Given the description of an element on the screen output the (x, y) to click on. 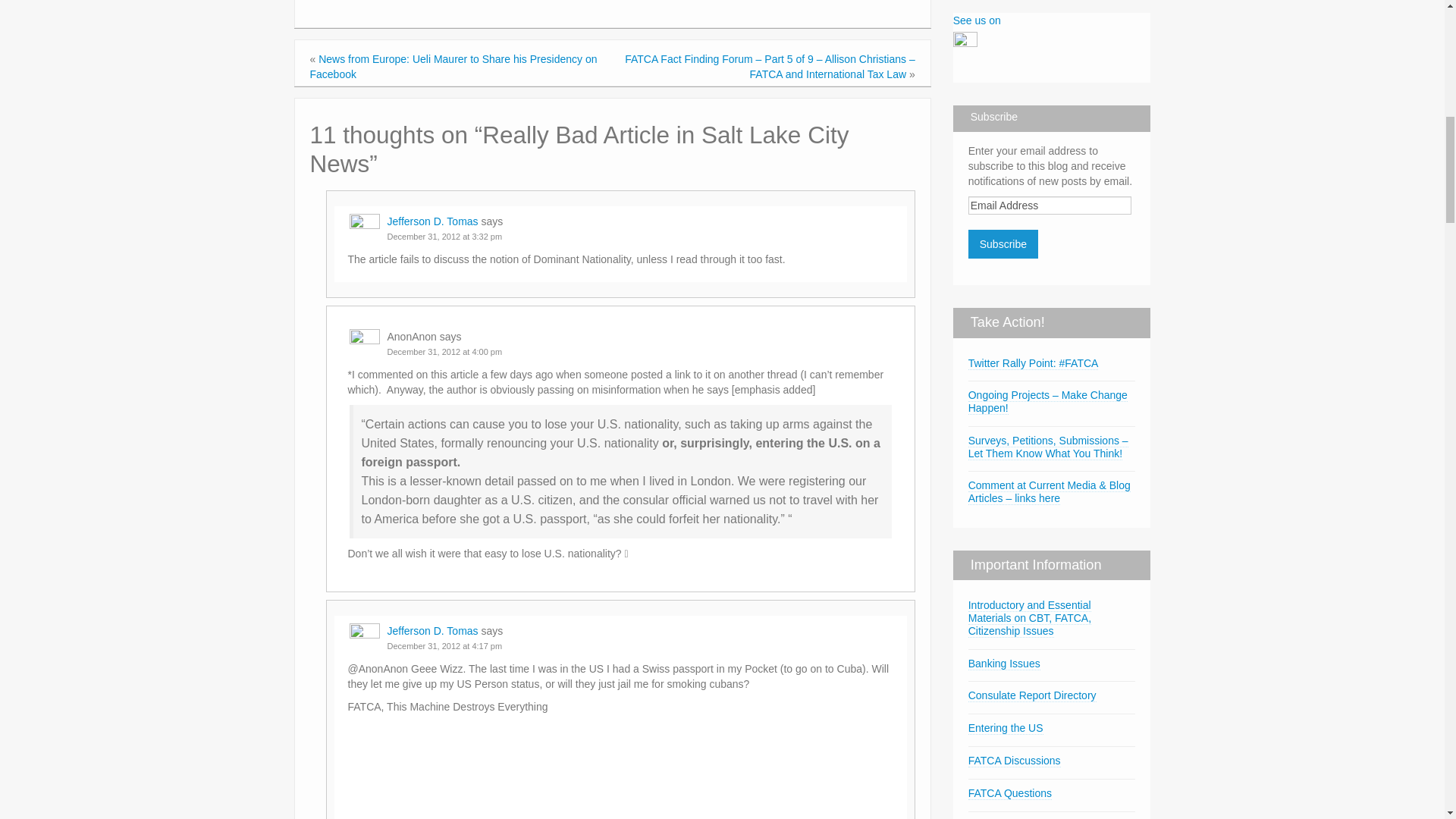
December 31, 2012 at 4:00 pm (444, 351)
Subscribe (1003, 244)
Jefferson D. Tomas (432, 221)
December 31, 2012 at 4:17 pm (444, 645)
December 31, 2012 at 3:32 pm (444, 235)
Jefferson D. Tomas (432, 630)
Email Address (1050, 205)
